Given the description of an element on the screen output the (x, y) to click on. 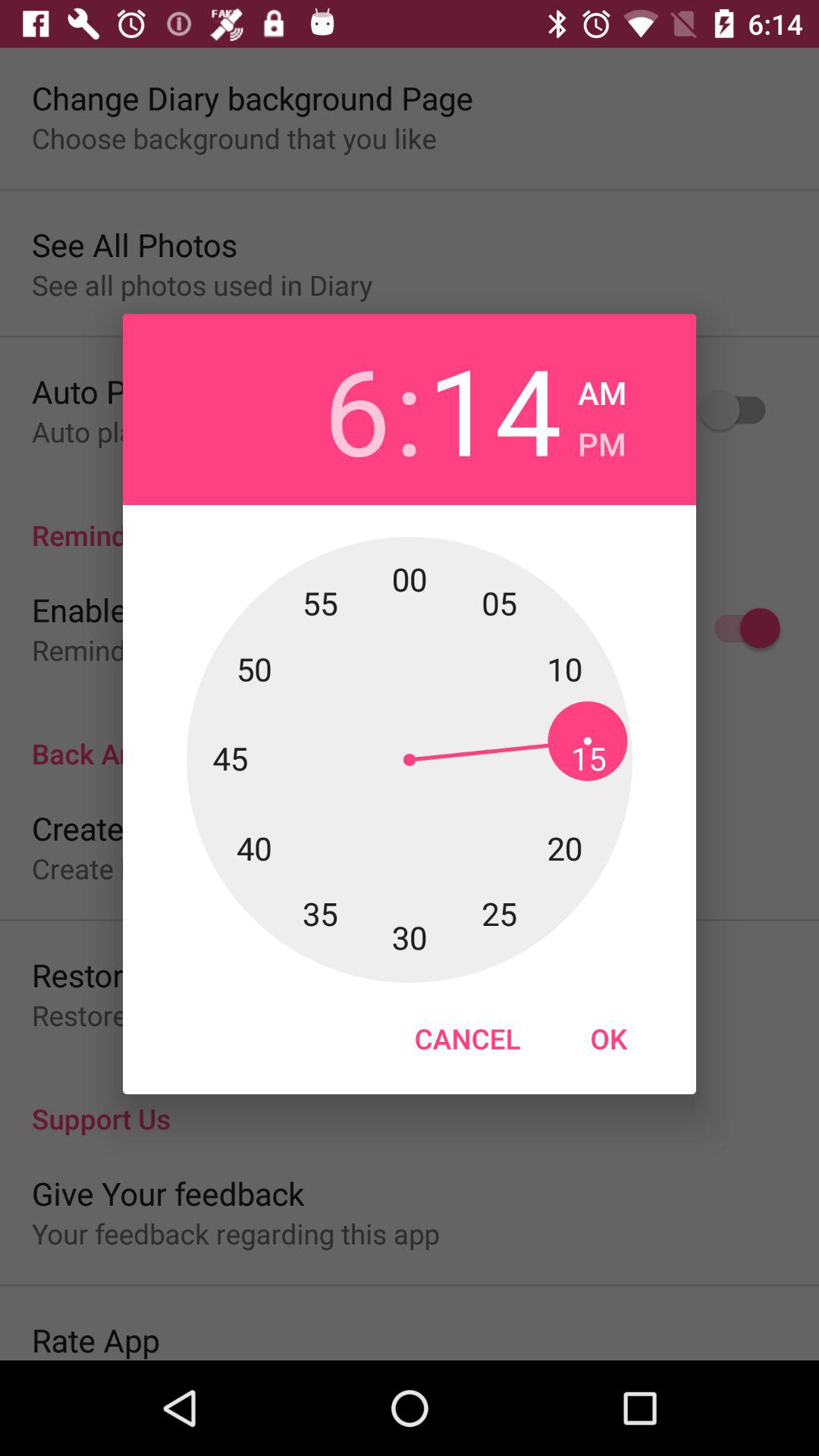
turn on the button to the left of ok icon (467, 1038)
